Given the description of an element on the screen output the (x, y) to click on. 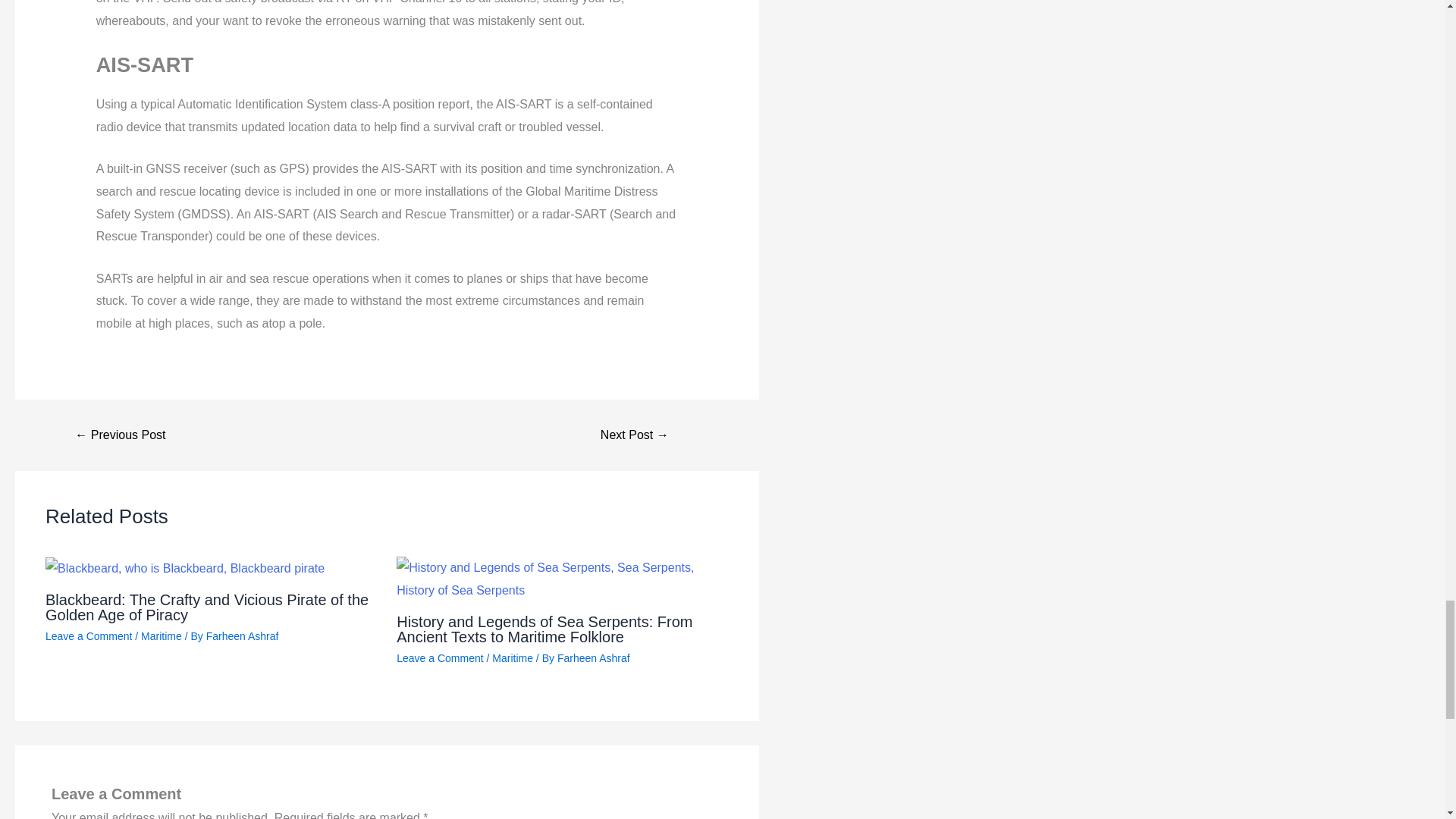
Maritime (512, 657)
View all posts by Farheen Ashraf (593, 657)
Farheen Ashraf (593, 657)
Farheen Ashraf (242, 635)
Leave a Comment (88, 635)
View all posts by Farheen Ashraf (242, 635)
Leave a Comment (439, 657)
